Given the description of an element on the screen output the (x, y) to click on. 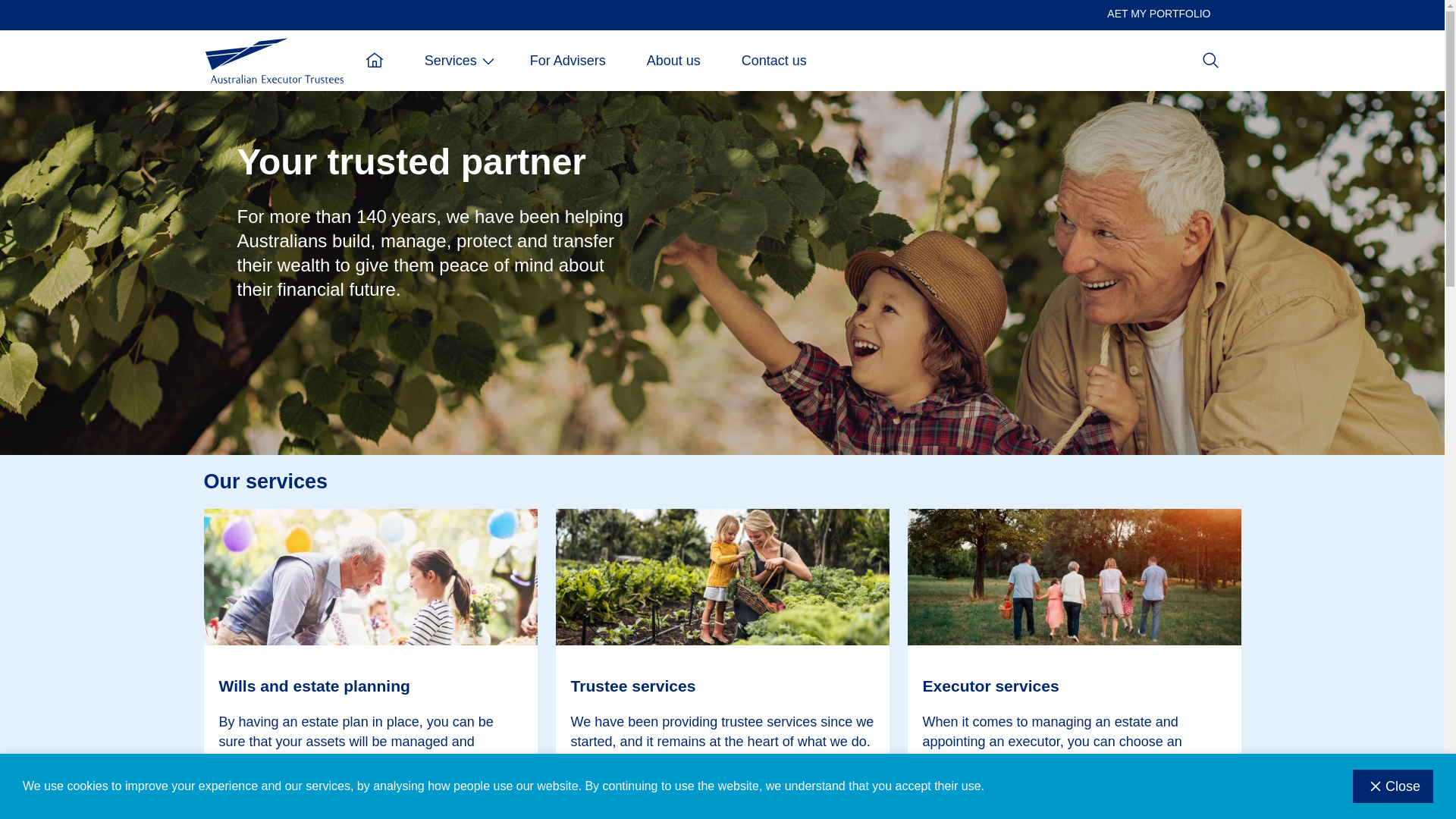
AET MY PORTFOLIO Element type: text (1158, 13)
Executor services Element type: text (1073, 686)
Show submenu for Services Element type: text (488, 60)
Close Element type: text (1392, 786)
Home Element type: text (374, 60)
Contact us Element type: text (774, 60)
About us Element type: text (673, 60)
Services Element type: text (456, 60)
Home Element type: text (273, 60)
Skip to main content Element type: text (210, 19)
For Advisers Element type: text (567, 60)
Trustee services Element type: text (721, 686)
Wills and estate planning Element type: text (369, 686)
